Given the description of an element on the screen output the (x, y) to click on. 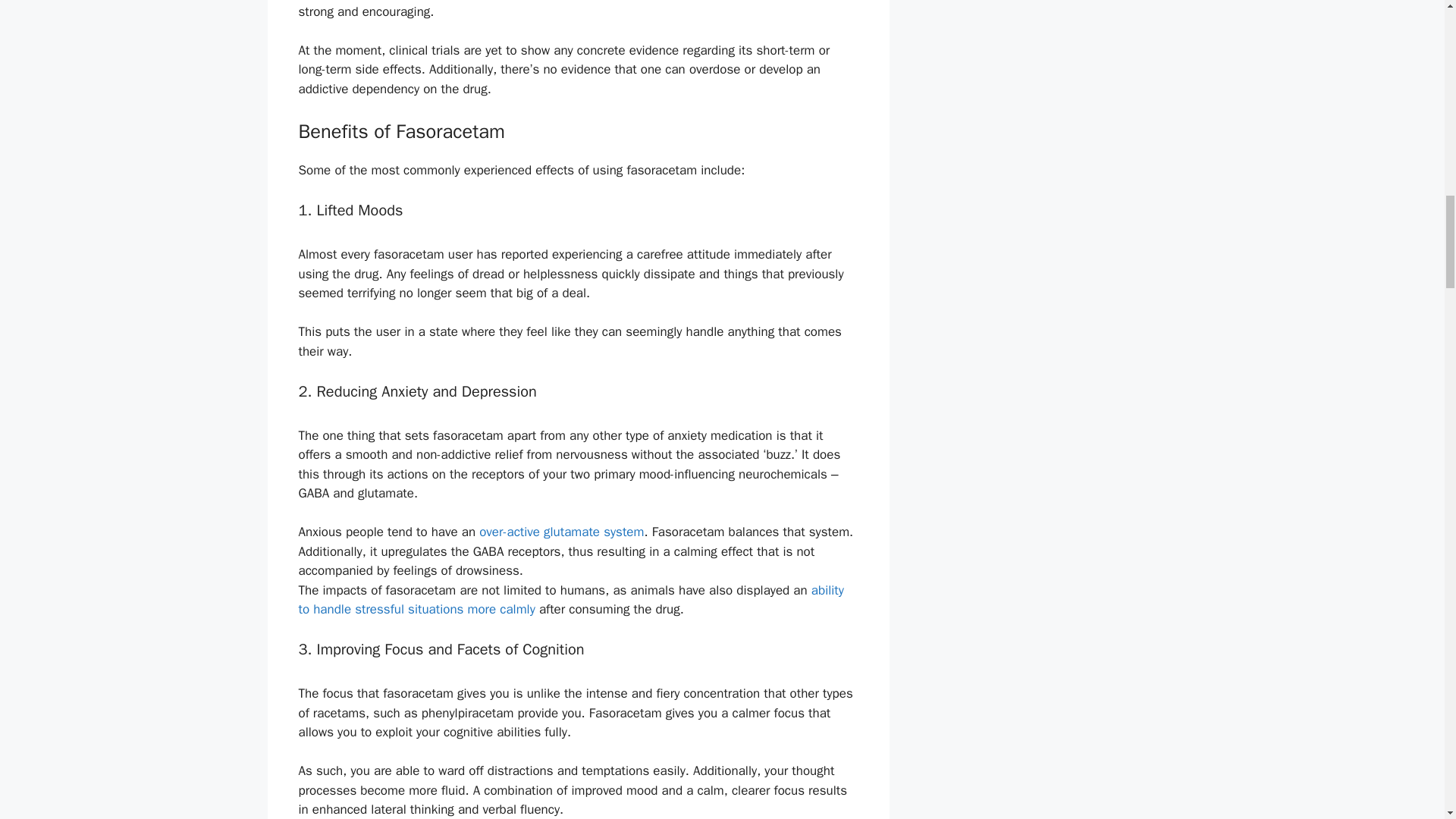
ability to handle stressful situations more calmly (571, 600)
over-active glutamate system (561, 531)
